Given the description of an element on the screen output the (x, y) to click on. 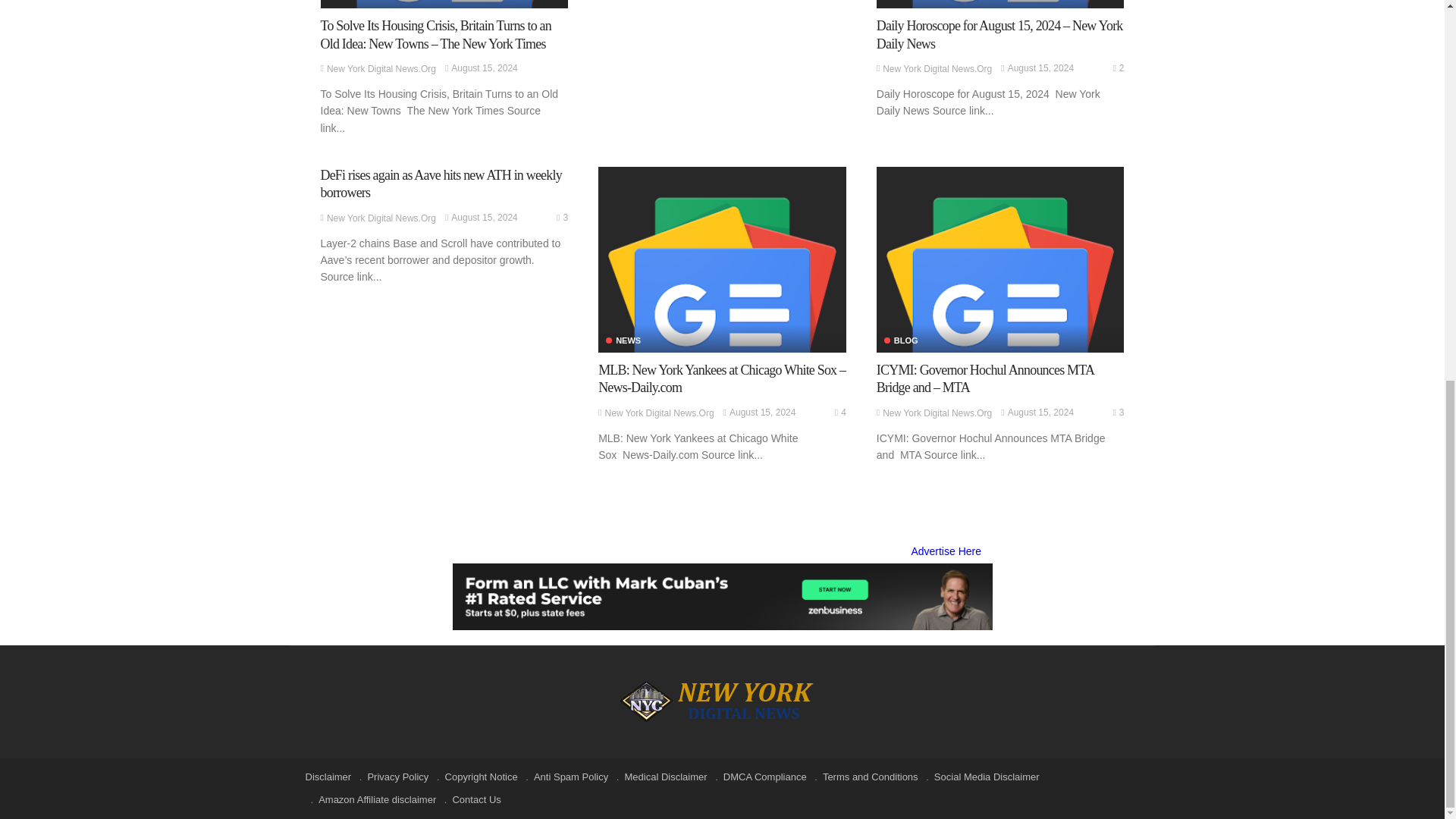
DeFi rises again as Aave hits new ATH in weekly borrowers (440, 183)
